Given the description of an element on the screen output the (x, y) to click on. 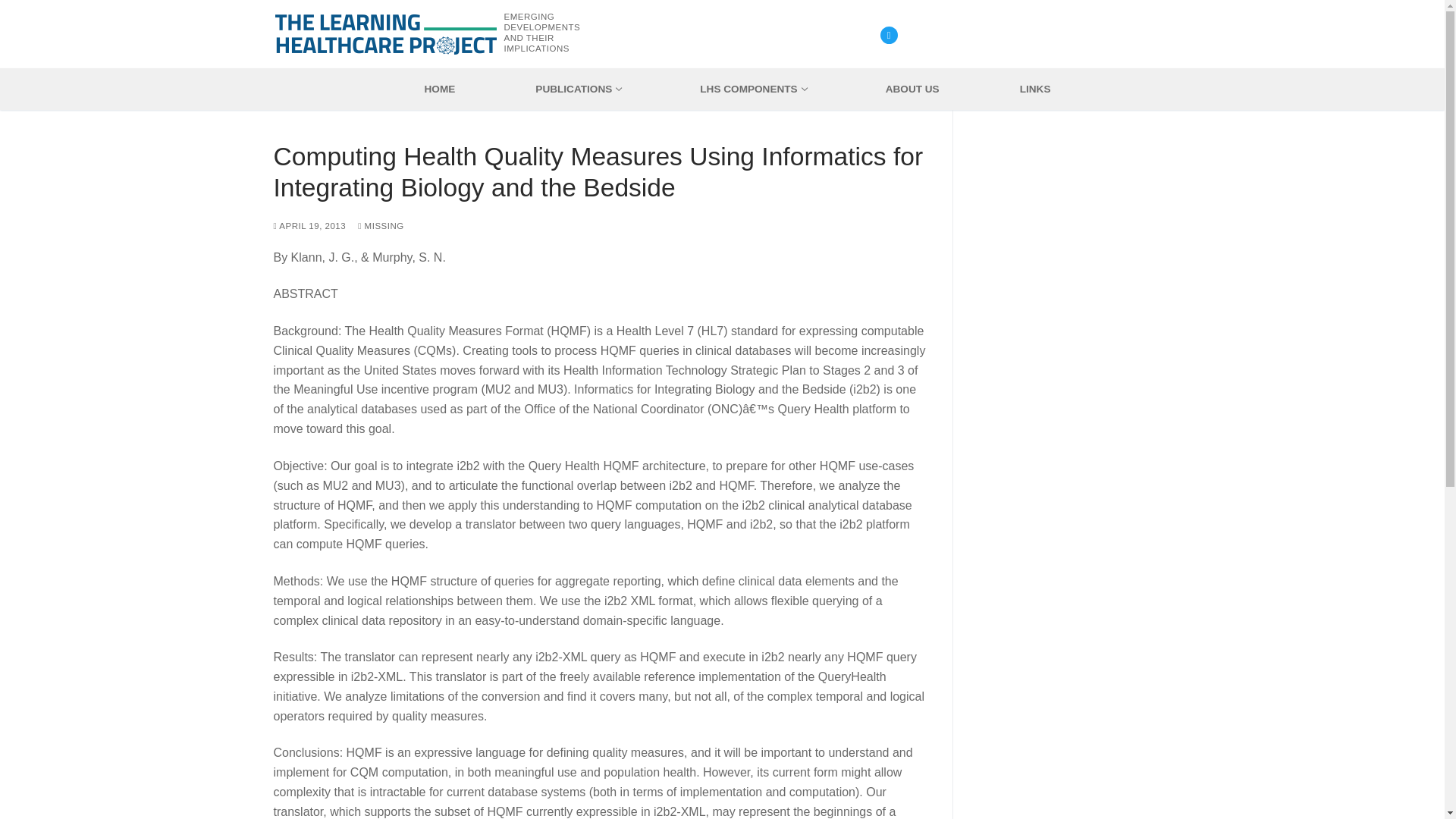
HOME (751, 89)
Twitter (439, 89)
